Given the description of an element on the screen output the (x, y) to click on. 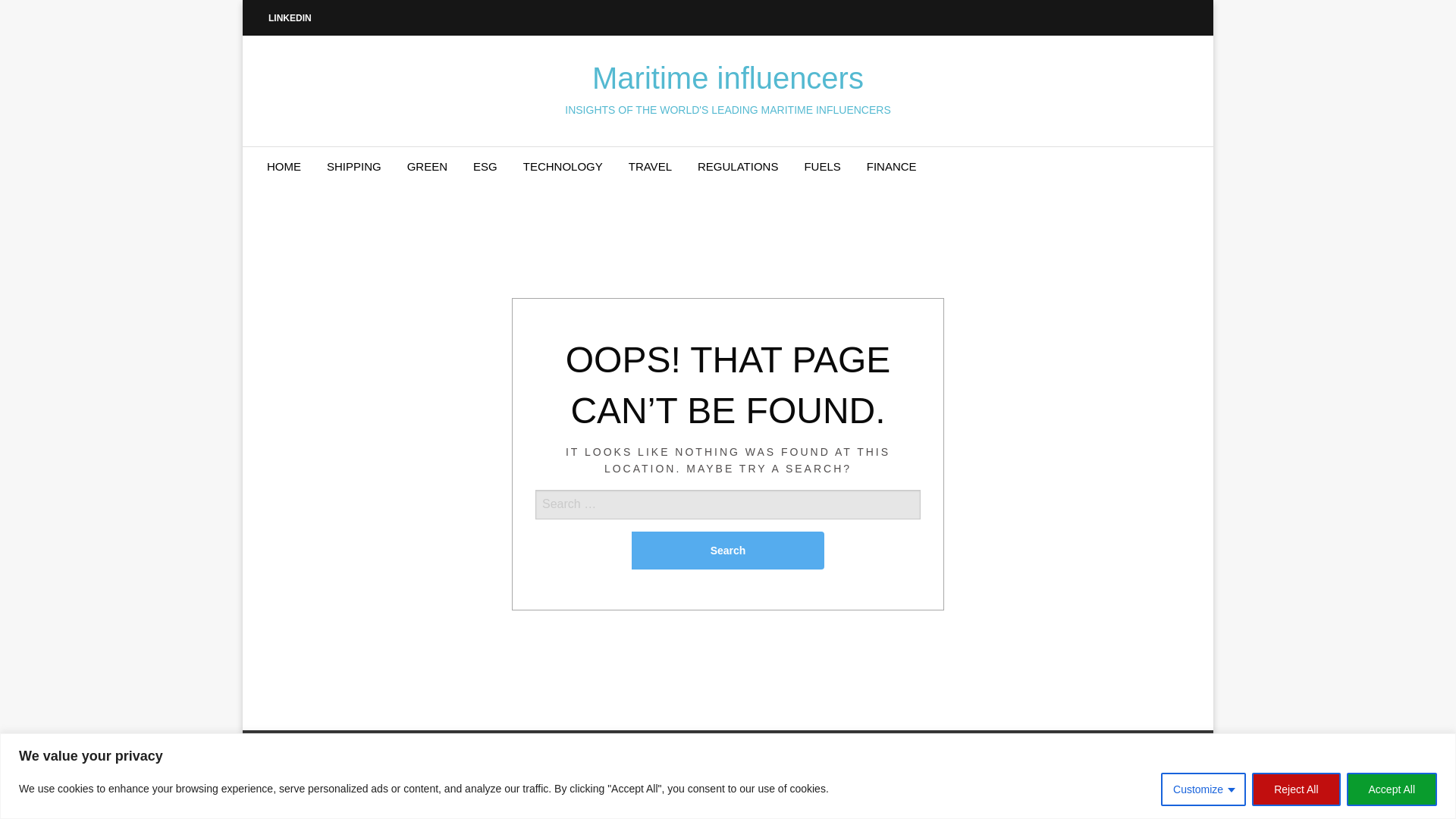
FINANCE (891, 166)
Search (727, 550)
TECHNOLOGY (563, 166)
ESG (485, 166)
Search for: (727, 529)
Maritime influencers (727, 78)
LINKEDIN (290, 17)
SHIPPING (354, 166)
FUELS (821, 166)
GREEN (427, 166)
HOME (283, 166)
Search (727, 550)
TRAVEL (649, 166)
Search (727, 550)
REGULATIONS (737, 166)
